Given the description of an element on the screen output the (x, y) to click on. 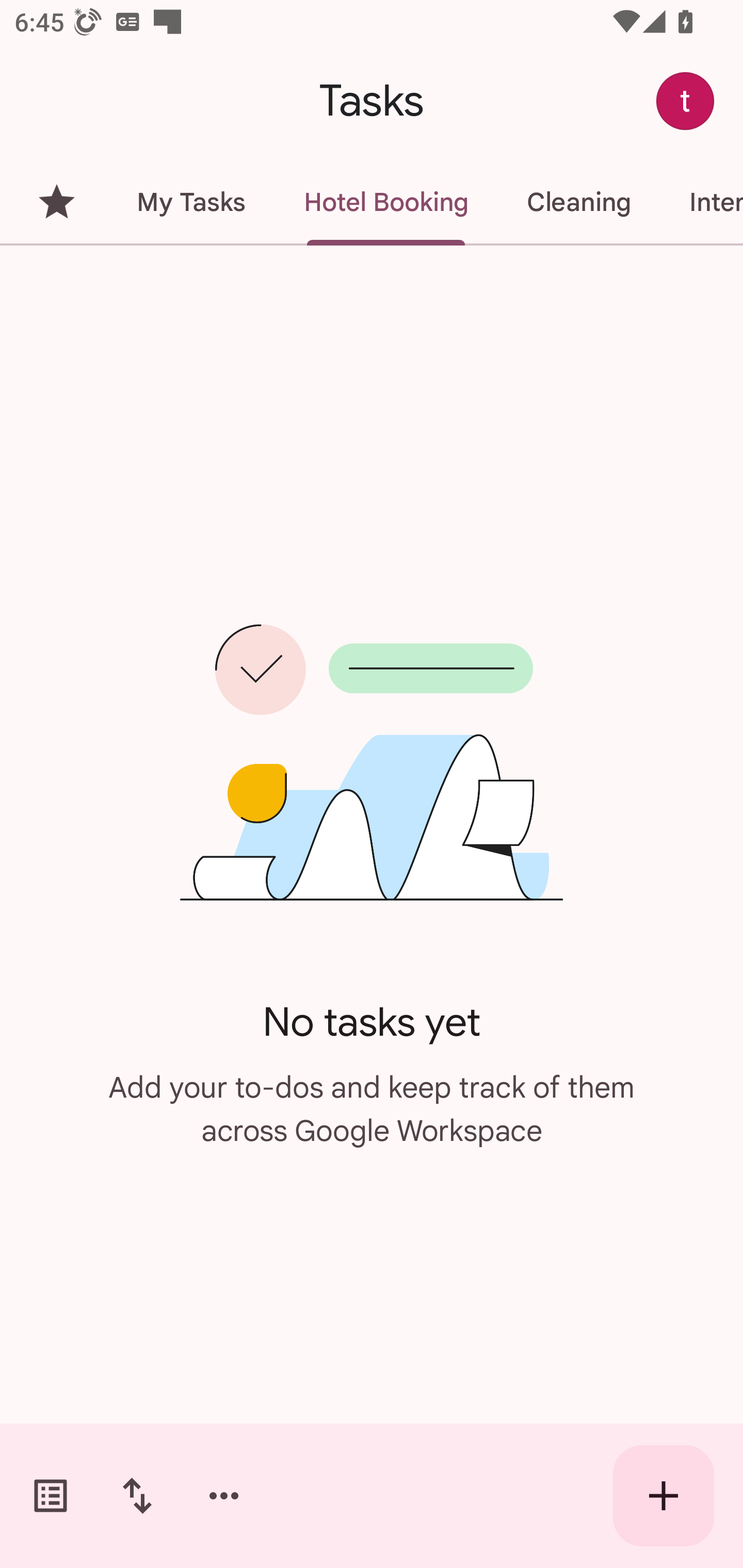
Starred (55, 202)
My Tasks (190, 202)
Cleaning (578, 202)
Interview (701, 202)
Switch task lists (50, 1495)
Create new task (663, 1495)
Change sort order (136, 1495)
More options (223, 1495)
